Given the description of an element on the screen output the (x, y) to click on. 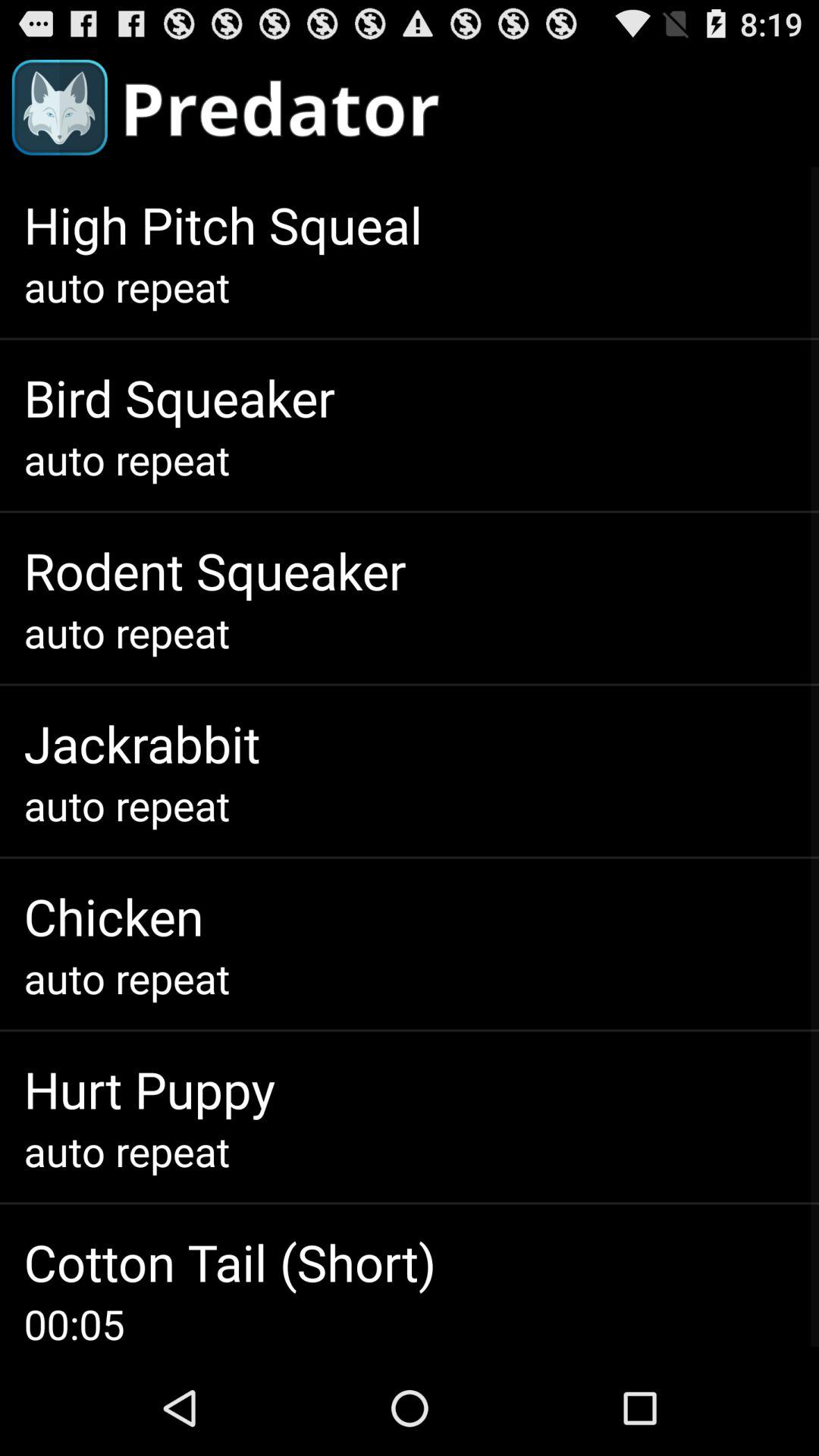
scroll to bird squeaker icon (178, 397)
